Given the description of an element on the screen output the (x, y) to click on. 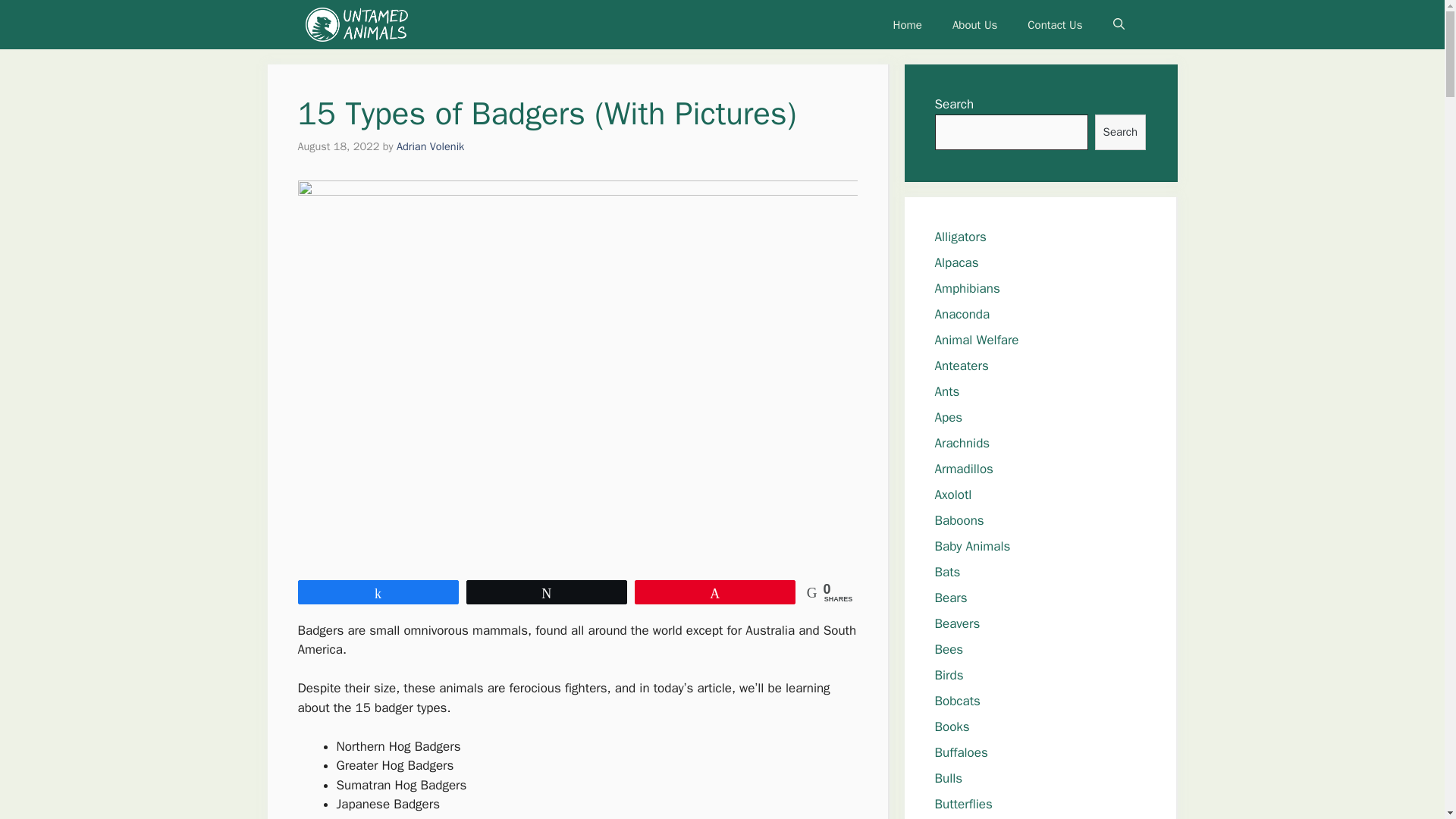
Contact Us (1054, 23)
Home (907, 23)
Adrian Volenik (430, 146)
Search (1119, 131)
Anaconda (962, 314)
Animal Welfare (975, 340)
View all posts by Adrian Volenik (430, 146)
Amphibians (966, 288)
Alpacas (956, 262)
Alligators (959, 236)
